Given the description of an element on the screen output the (x, y) to click on. 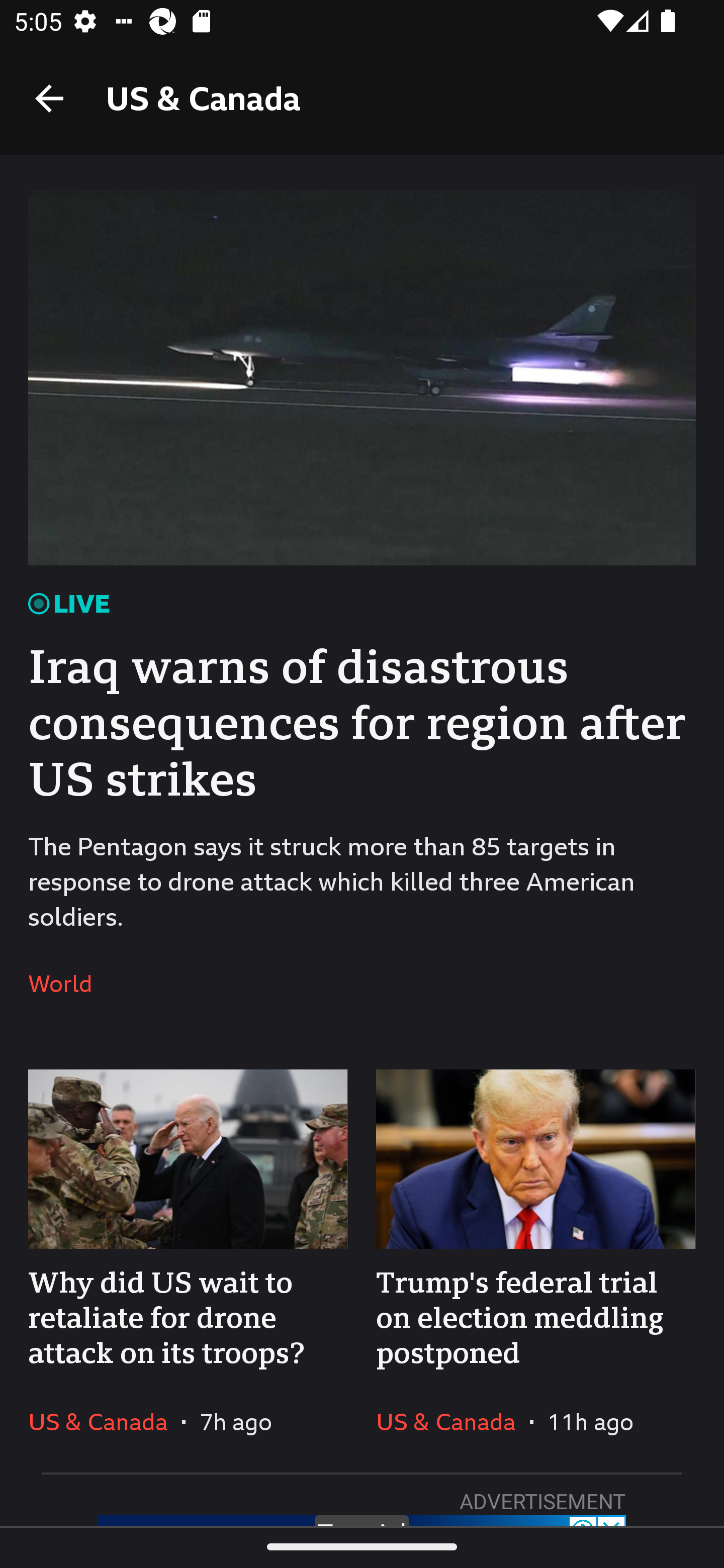
Back (49, 97)
World In the section World (67, 983)
US & Canada In the section US & Canada (104, 1421)
US & Canada In the section US & Canada (452, 1421)
